Given the description of an element on the screen output the (x, y) to click on. 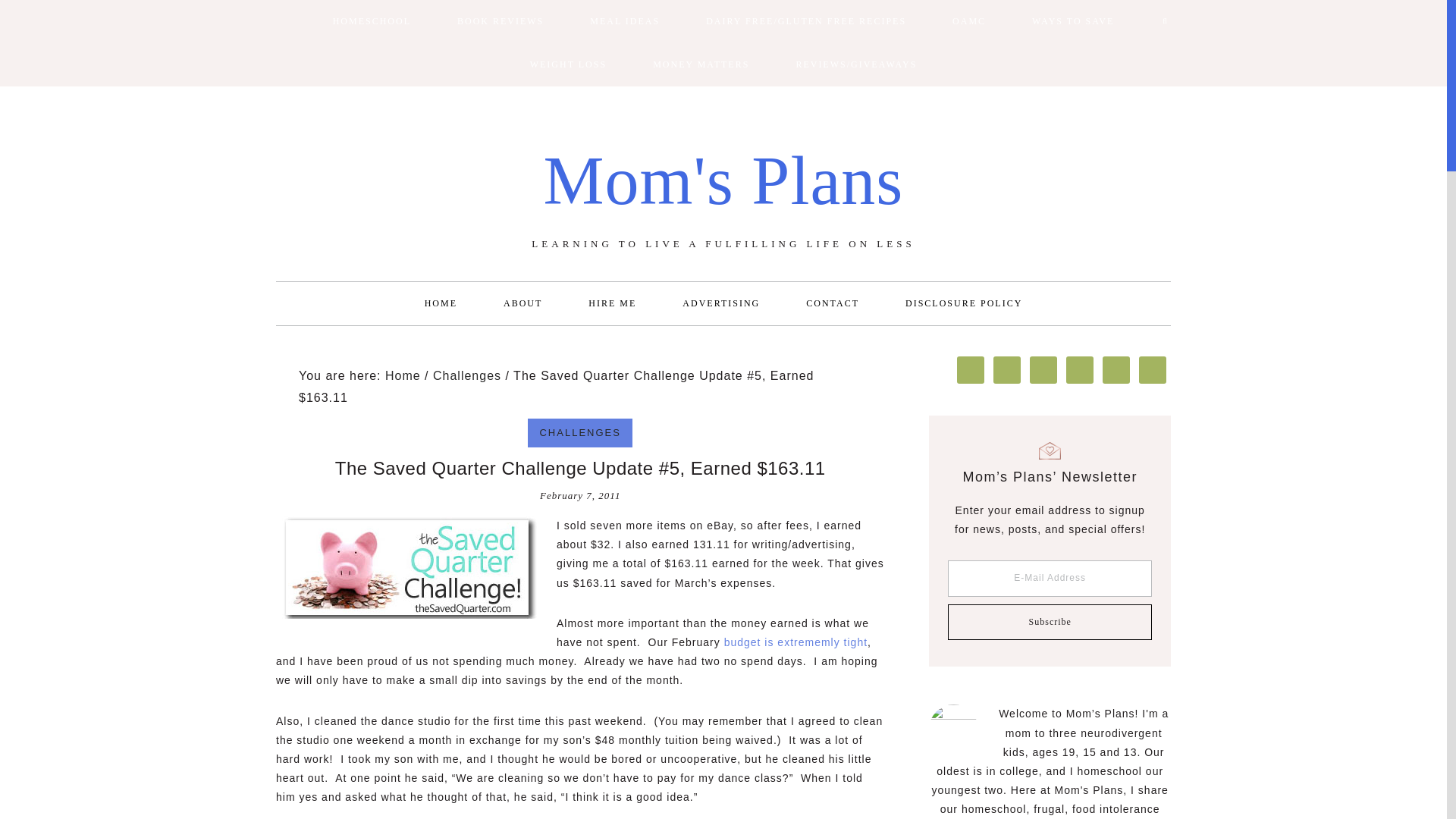
BOOK REVIEWS (499, 21)
WEIGHT LOSS (567, 64)
HIRE ME (612, 303)
MONEY MATTERS (700, 64)
OAMC (969, 21)
Subscribe (1049, 622)
Mom's Plans (723, 180)
untitled (407, 567)
HOME (441, 303)
